Given the description of an element on the screen output the (x, y) to click on. 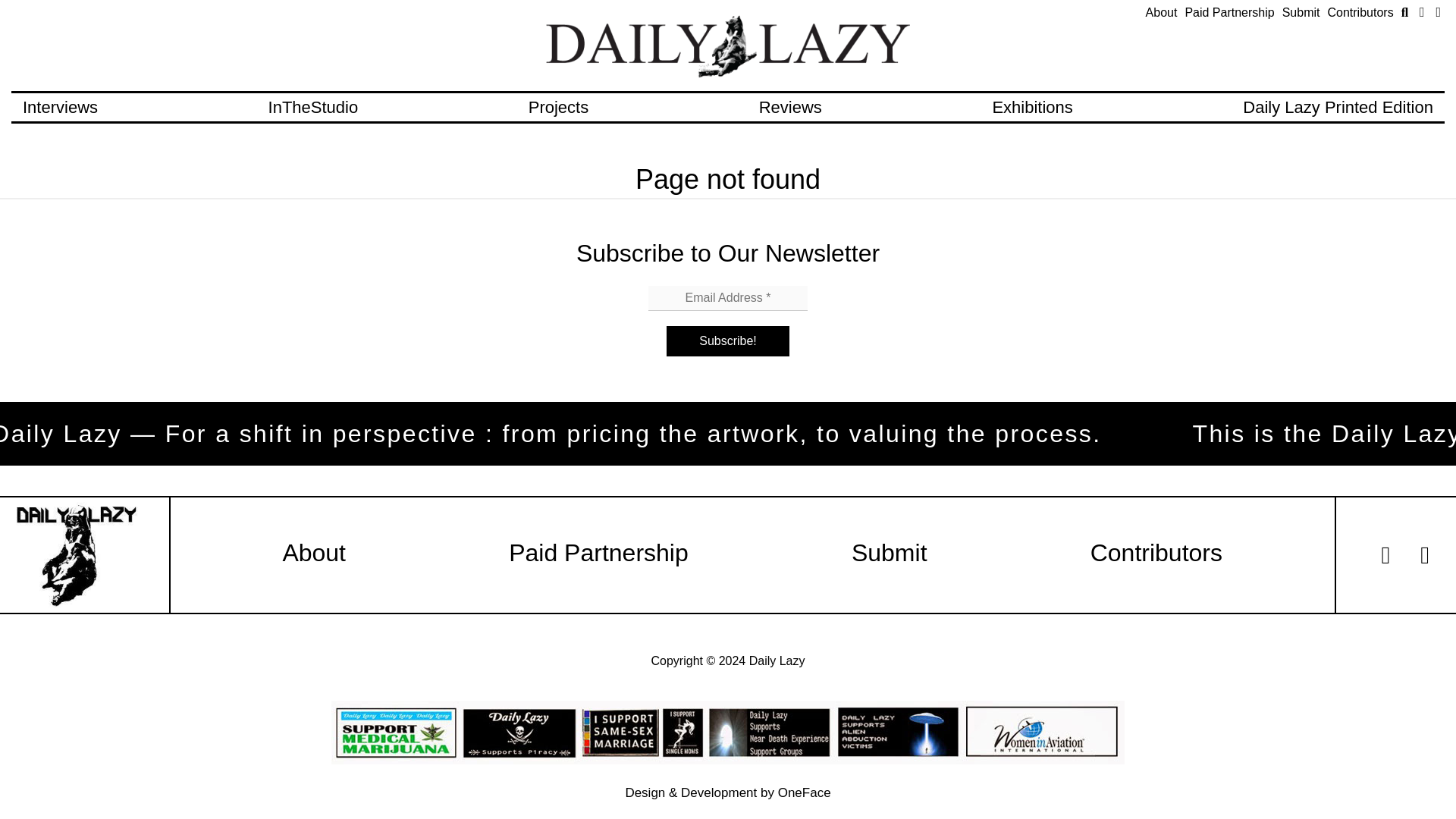
Submit (1301, 11)
Paid Partnership (1229, 11)
Reviews (790, 107)
facebook (1385, 554)
instagram (1438, 11)
About (1161, 11)
Projects (558, 107)
Interviews (60, 107)
Paid Partnership (598, 552)
About (314, 552)
InTheStudio (312, 107)
Daily Lazy Printed Edition (1337, 107)
instagram (1425, 554)
facebook (1422, 11)
Subscribe! (727, 340)
